Given the description of an element on the screen output the (x, y) to click on. 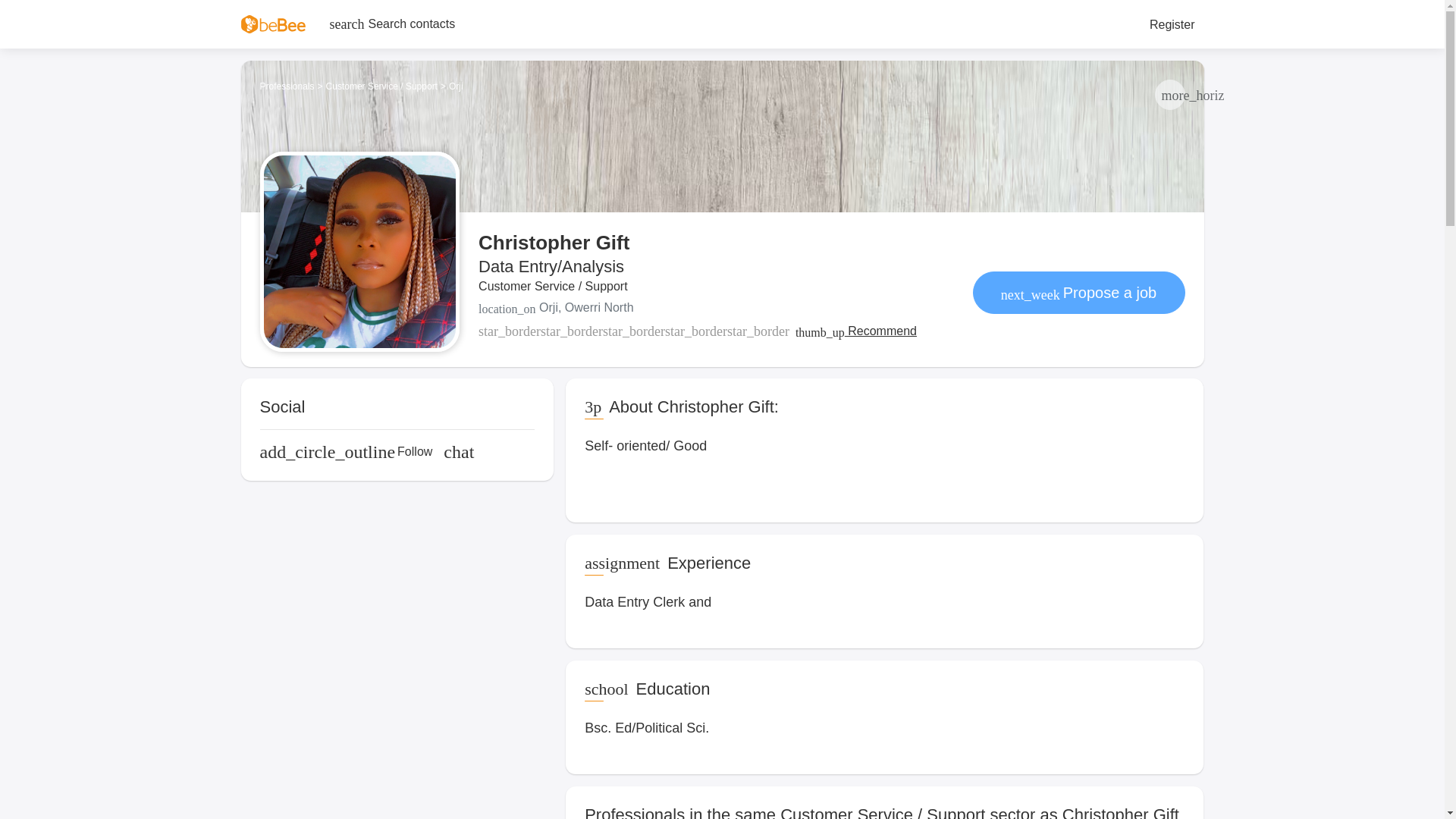
Register (1172, 24)
Search contacts (392, 24)
Orji, Owerri North (698, 307)
Recommend (855, 331)
Propose a job (1078, 292)
Professionals (286, 86)
Follow (345, 451)
